Given the description of an element on the screen output the (x, y) to click on. 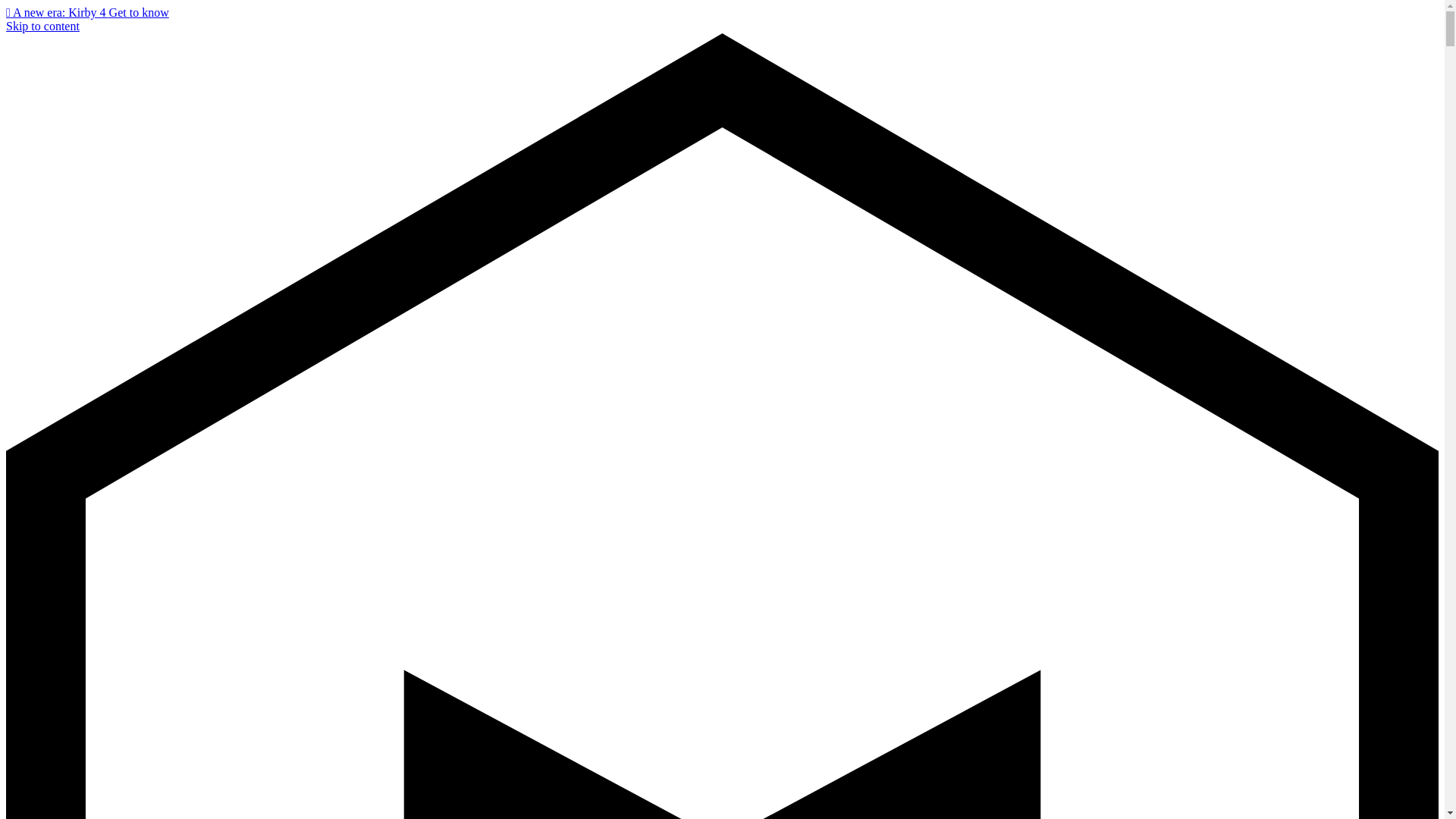
Skip to content (42, 25)
